Given the description of an element on the screen output the (x, y) to click on. 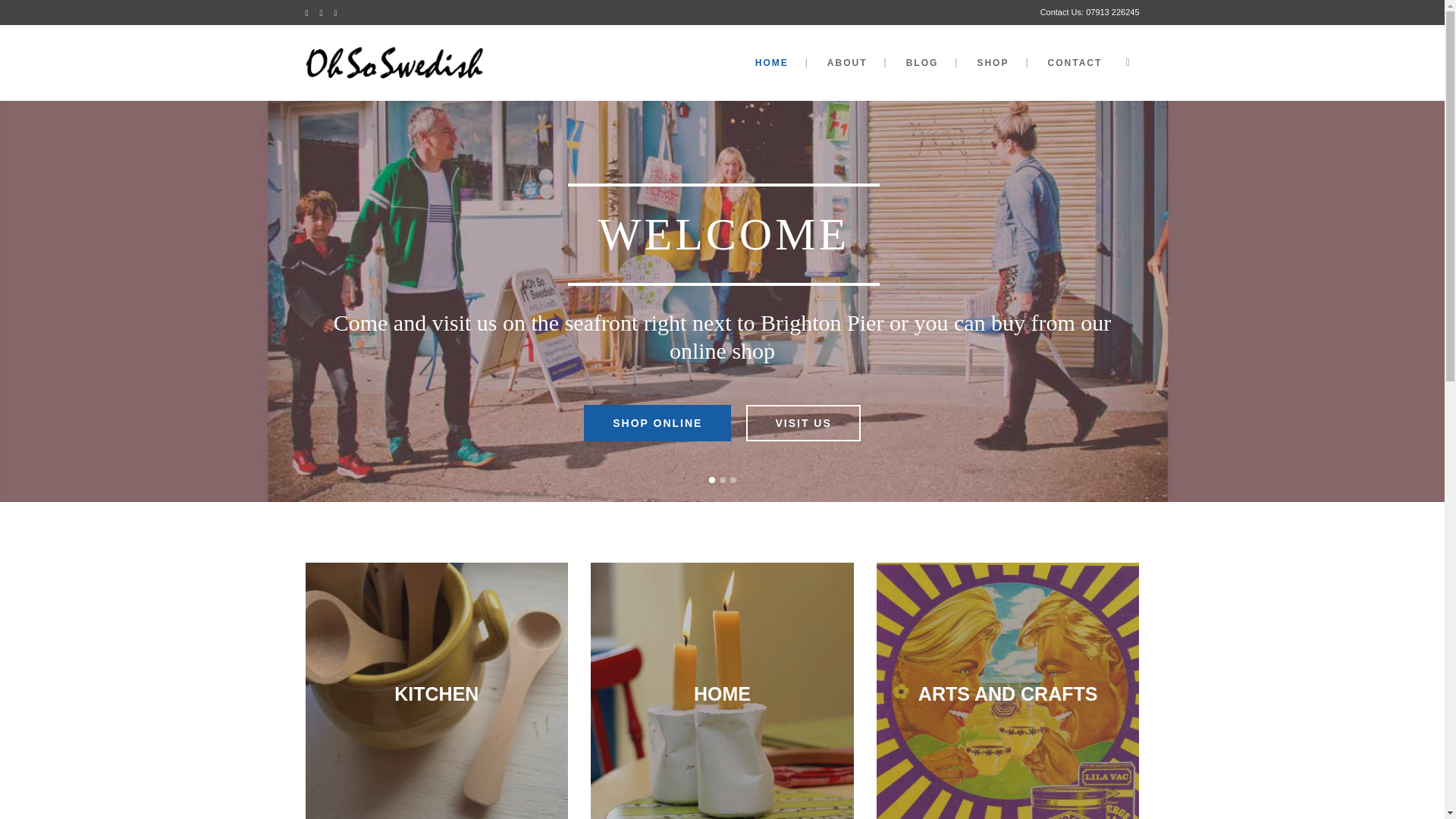
BLOG (922, 62)
ABOUT (847, 62)
HOME (771, 62)
CONTACT (1075, 62)
SHOP (992, 62)
